Given the description of an element on the screen output the (x, y) to click on. 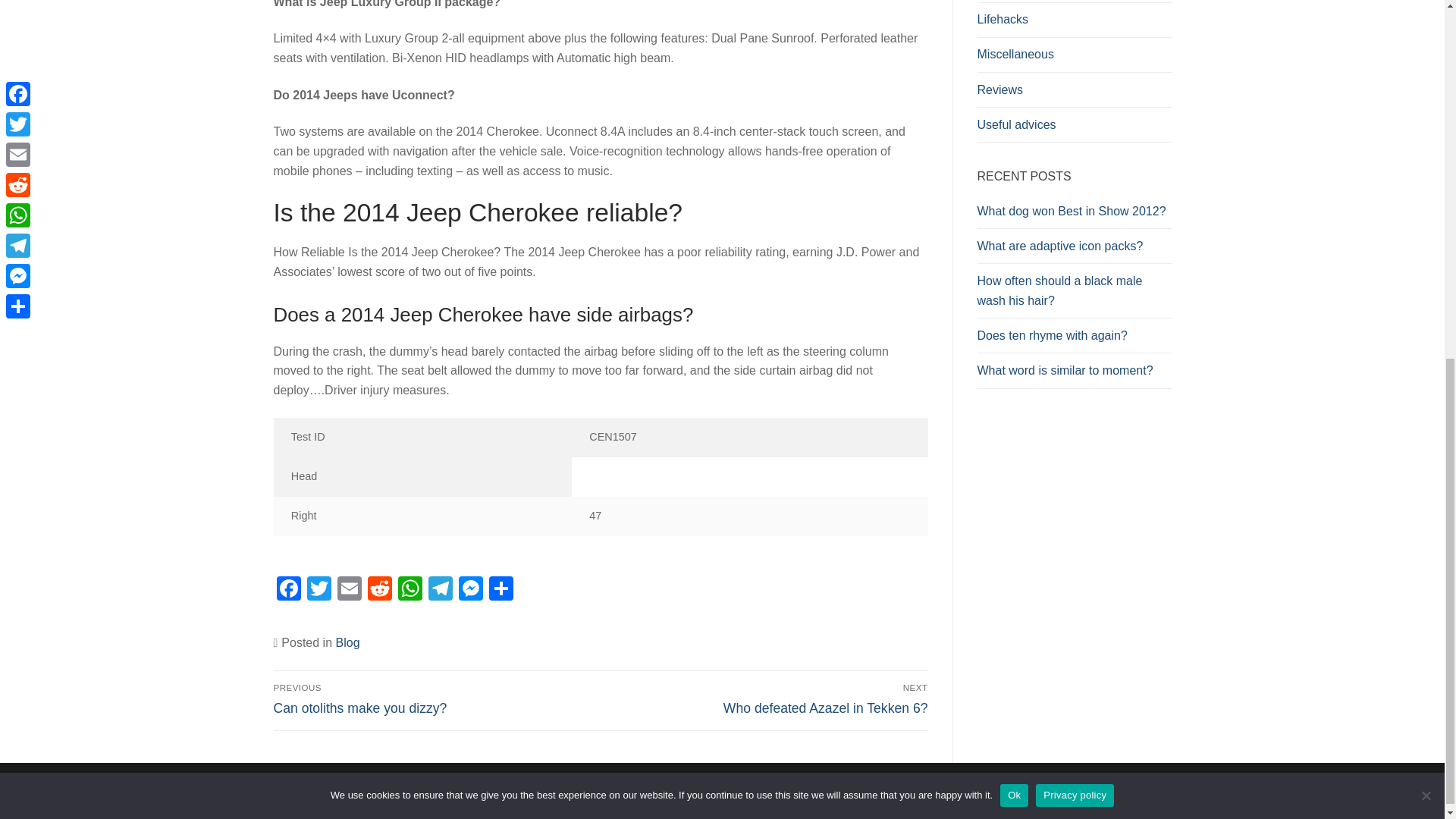
Cool Ideas (1073, 1)
Facebook (287, 590)
Telegram (439, 590)
Messenger (469, 590)
Blog (346, 642)
Twitter (317, 590)
Reddit (379, 590)
Email (348, 590)
Telegram (439, 590)
Twitter (317, 590)
